Given the description of an element on the screen output the (x, y) to click on. 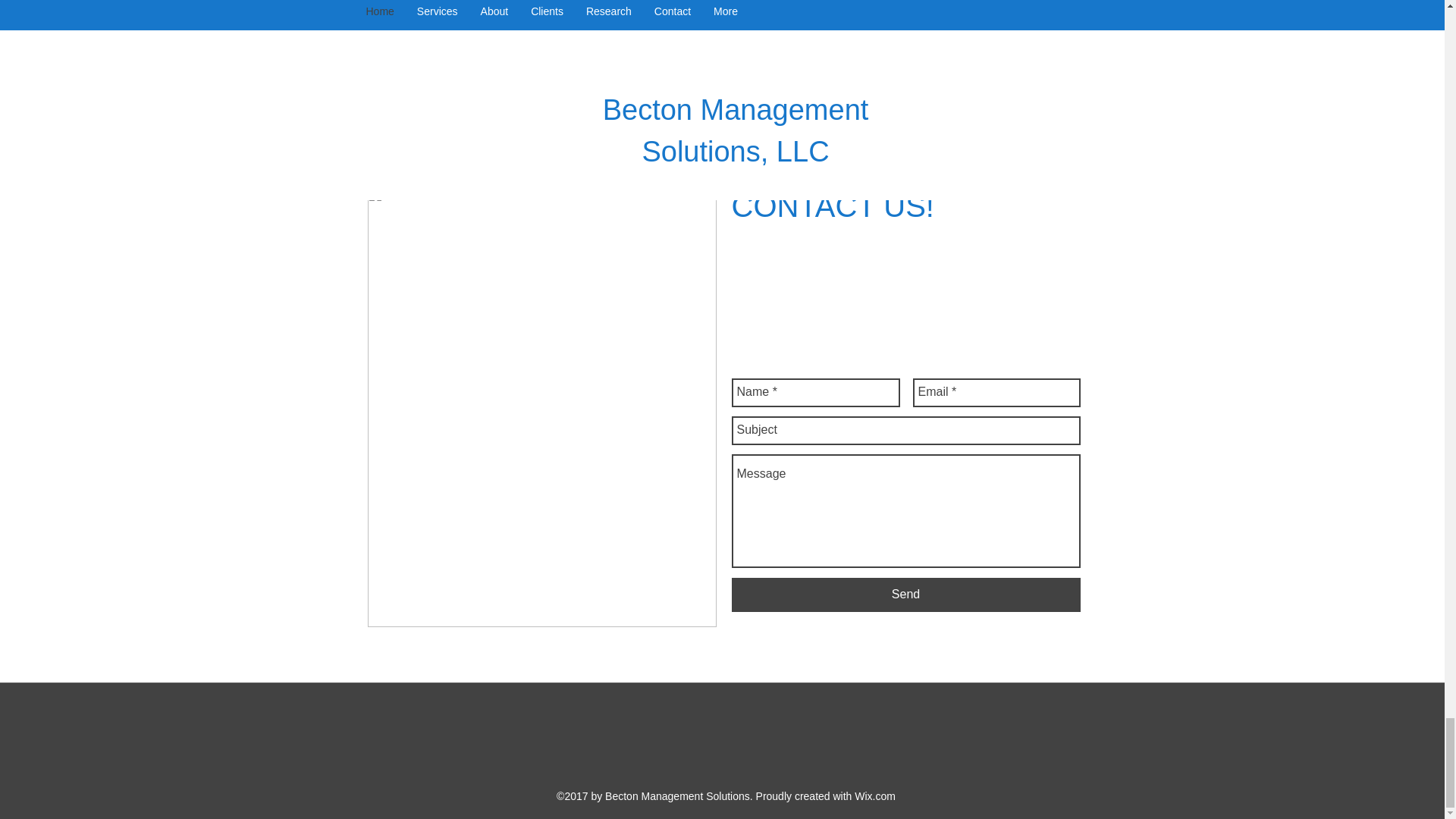
Send (905, 594)
